Given the description of an element on the screen output the (x, y) to click on. 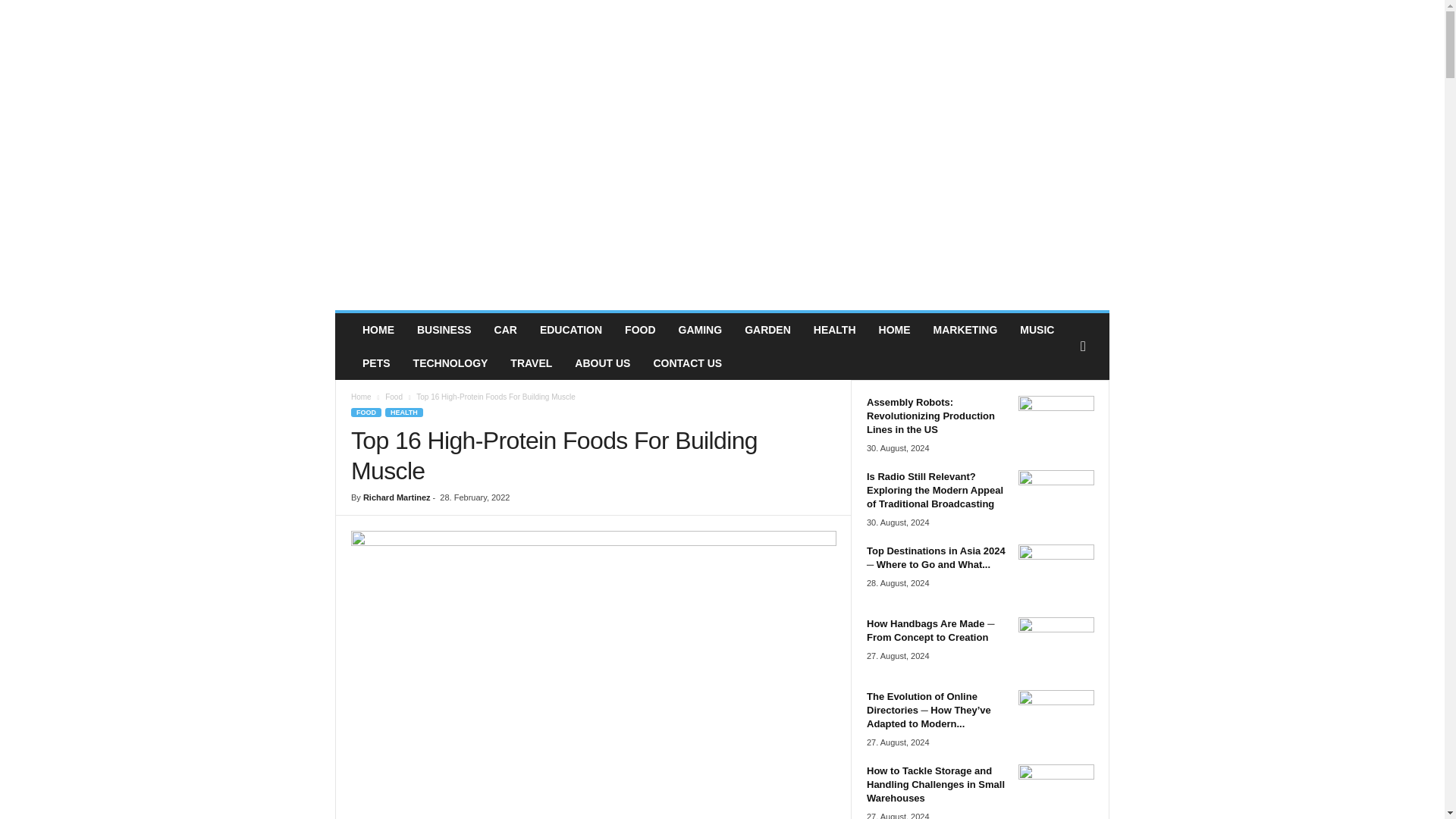
PETS (375, 363)
TECHNOLOGY (450, 363)
CAR (505, 329)
GAMING (699, 329)
HEALTH (404, 411)
TRAVEL (531, 363)
CONTACT US (687, 363)
HEALTH (834, 329)
